Given the description of an element on the screen output the (x, y) to click on. 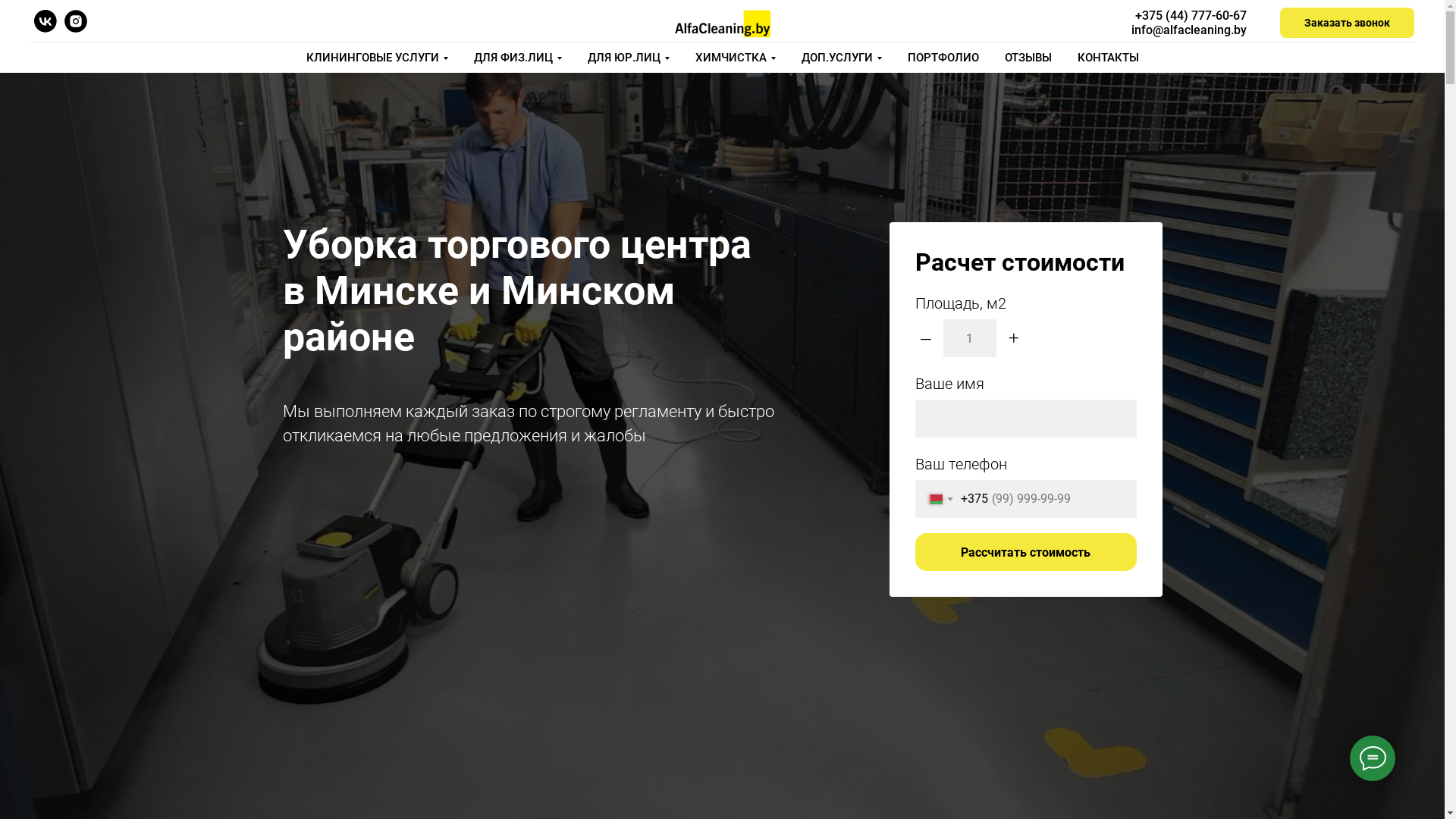
+375 (44) 777-60-67 Element type: text (1190, 15)
VK Element type: text (45, 27)
Instagram Element type: text (75, 27)
